Given the description of an element on the screen output the (x, y) to click on. 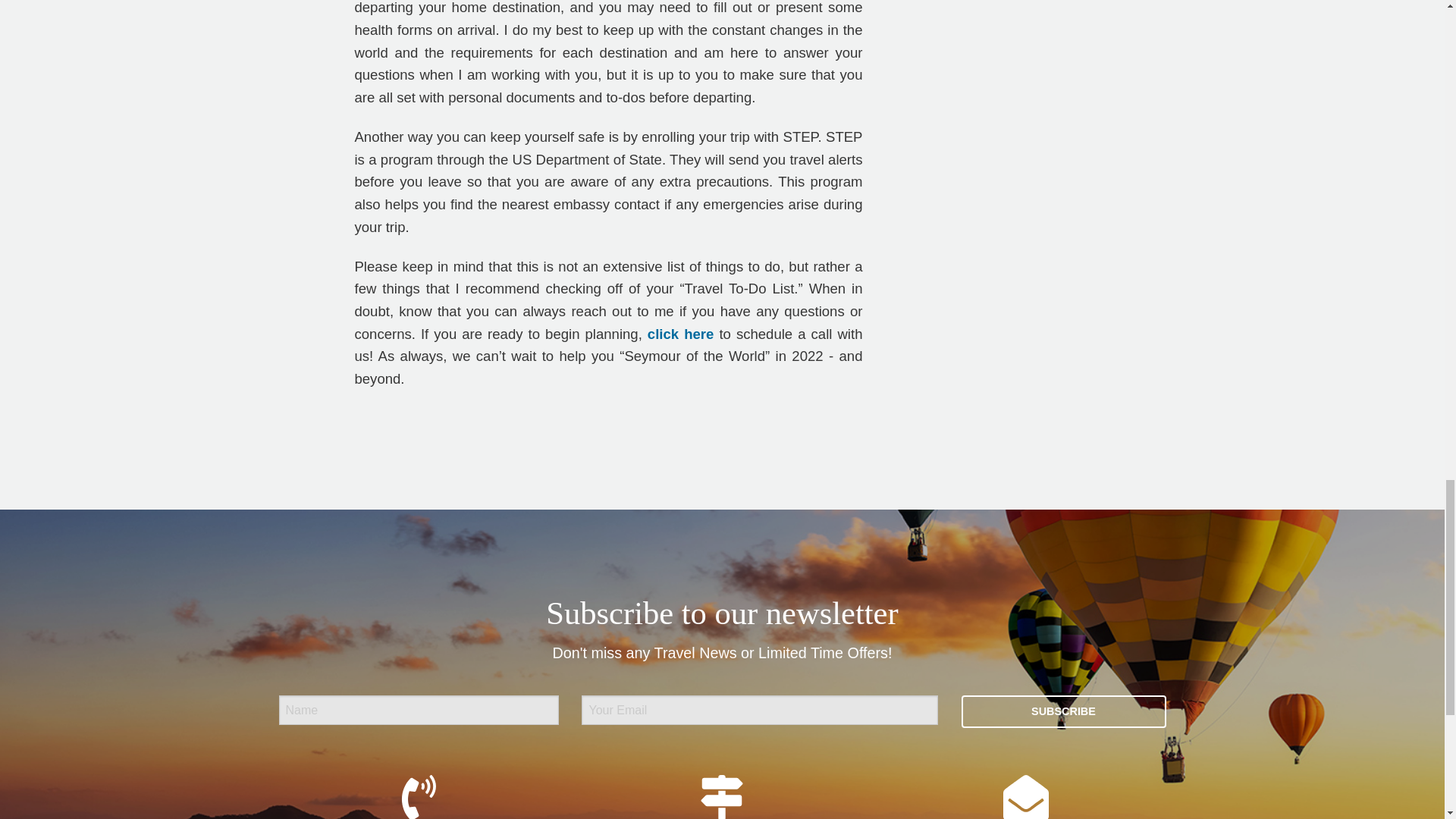
Subscribe (1063, 711)
click here (680, 333)
